Given the description of an element on the screen output the (x, y) to click on. 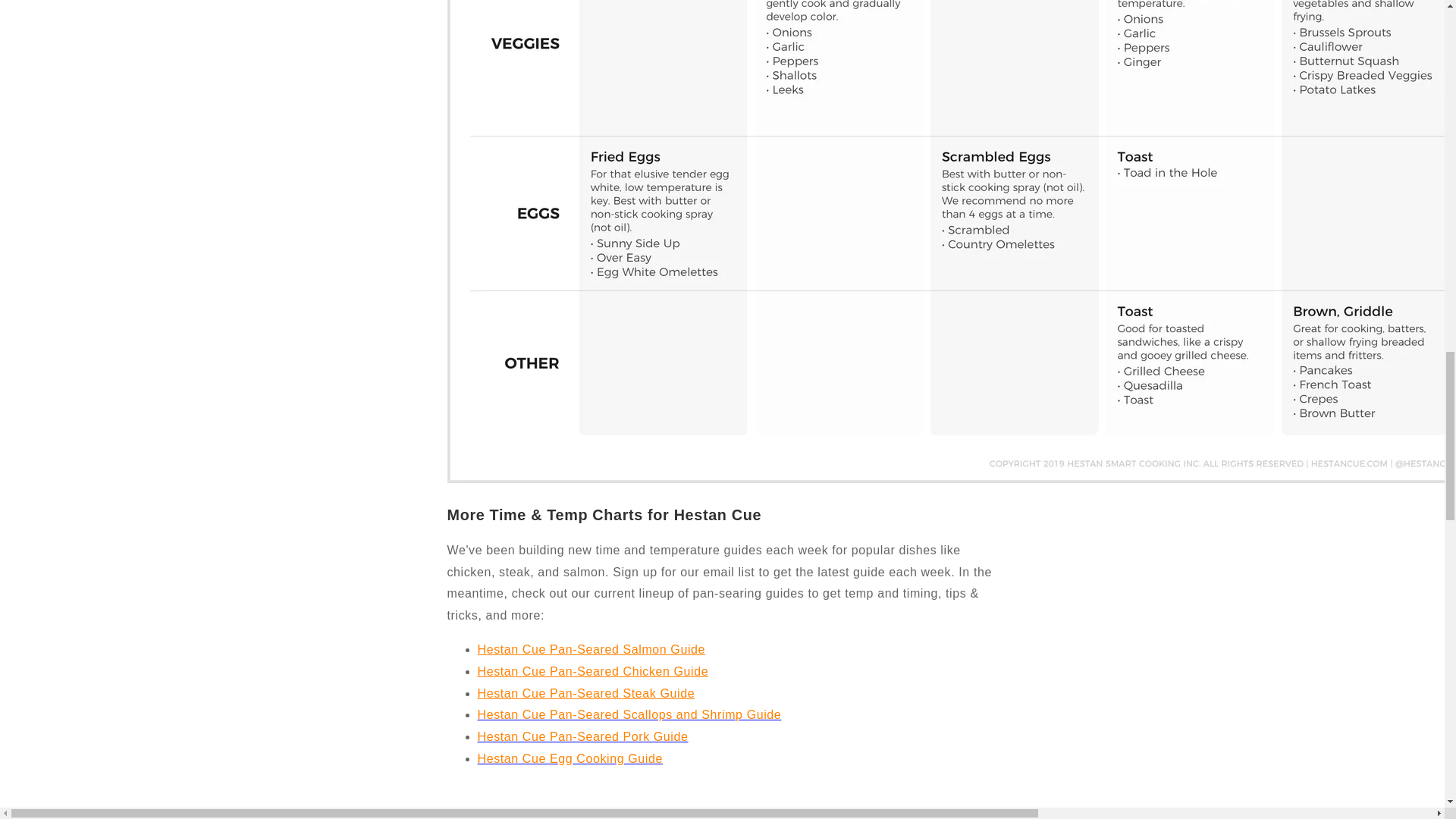
pork guide (582, 736)
scallops and shrimp guide (629, 714)
egg guide (570, 758)
